Given the description of an element on the screen output the (x, y) to click on. 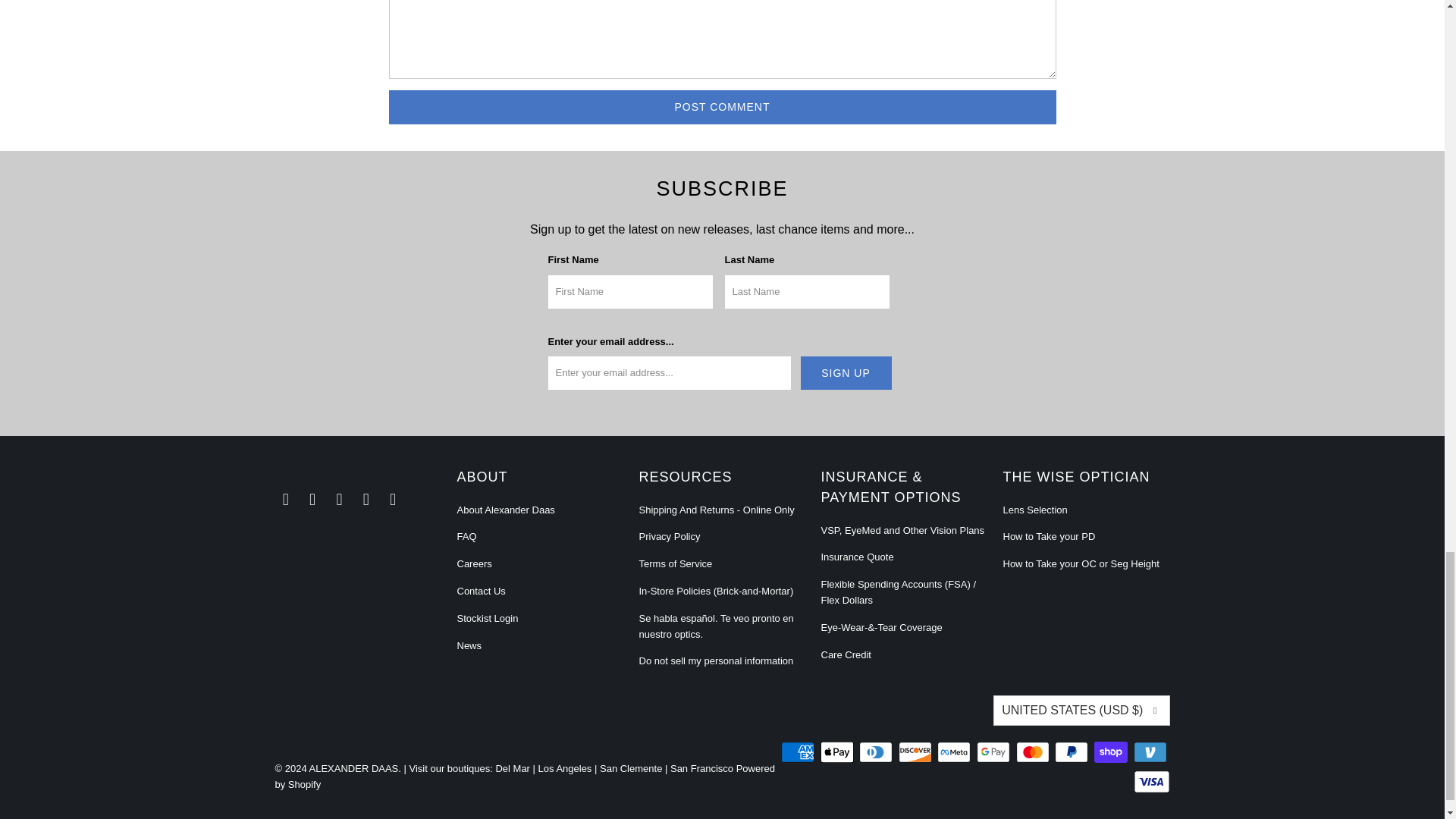
Shop Pay (1112, 752)
Sign Up (845, 372)
Meta Pay (955, 752)
Diners Club (877, 752)
Post comment (721, 107)
Discover (916, 752)
Mastercard (1034, 752)
Visa (1150, 781)
Google Pay (994, 752)
Apple Pay (839, 752)
PayPal (1072, 752)
Venmo (1150, 752)
American Express (798, 752)
